Given the description of an element on the screen output the (x, y) to click on. 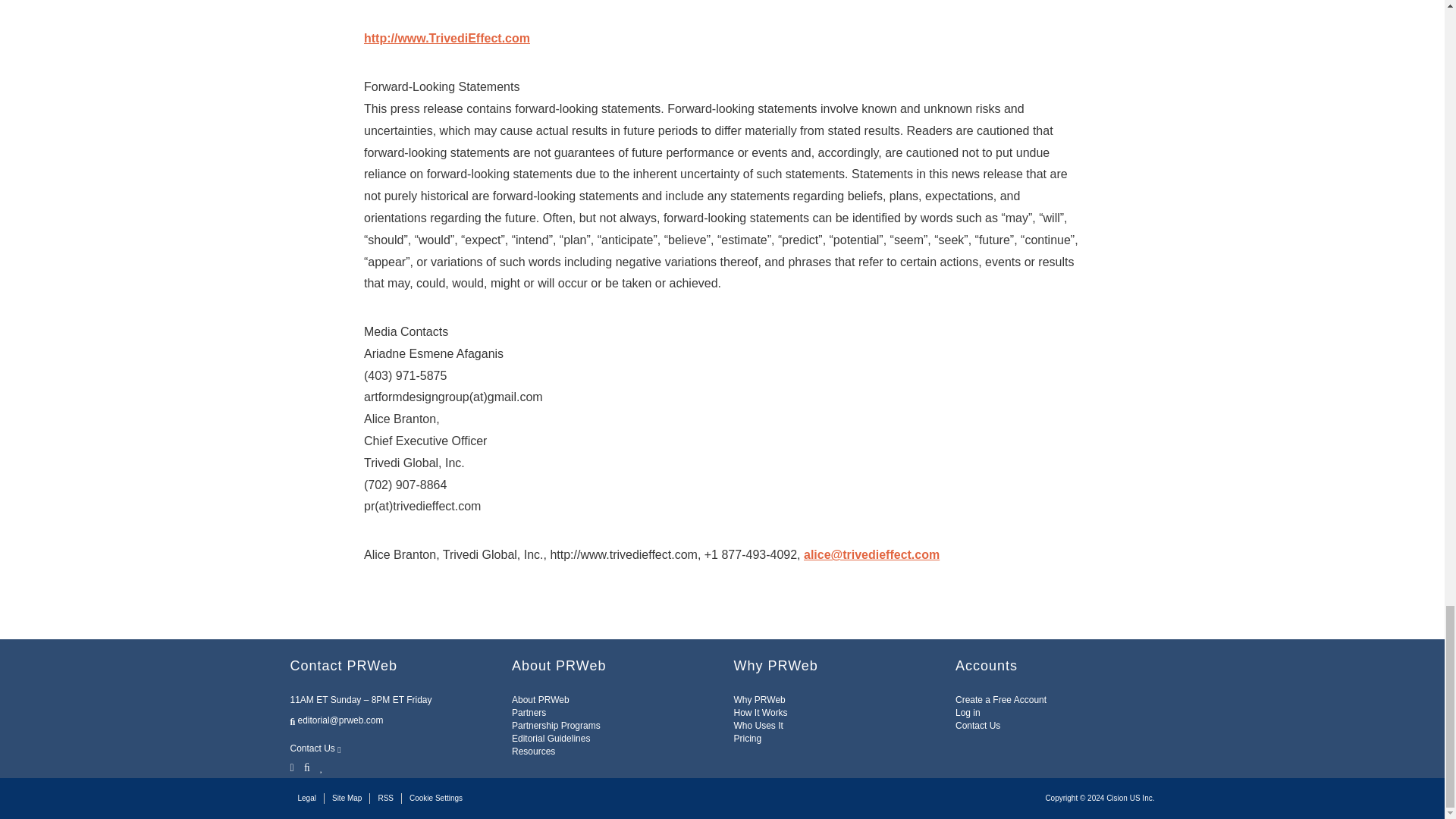
Partners (529, 712)
Resources (533, 751)
Partnership Programs (555, 725)
Facebook (306, 766)
About PRWeb (540, 699)
Editorial Guidelines (550, 738)
